Given the description of an element on the screen output the (x, y) to click on. 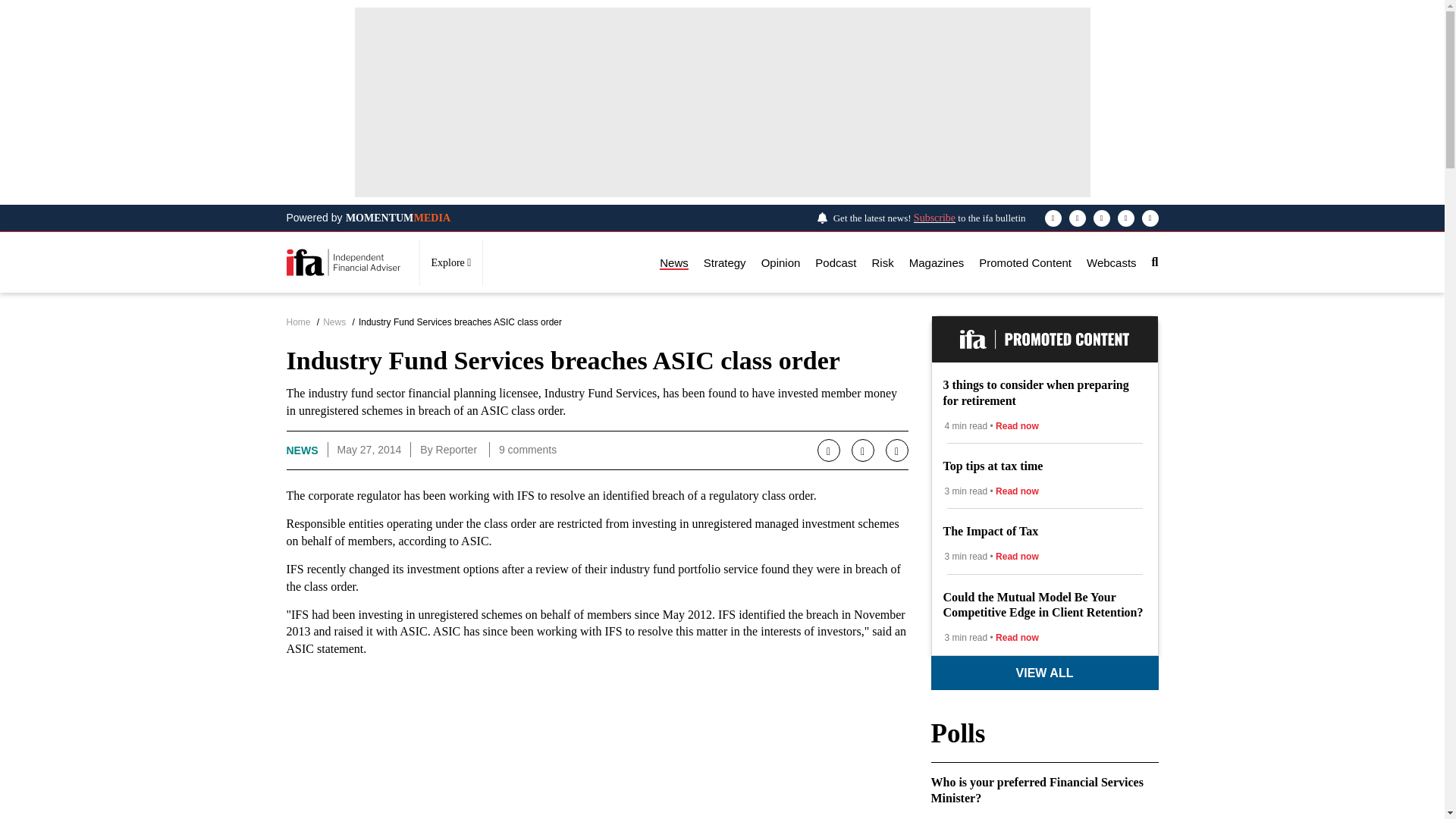
Strategy (724, 261)
Webcasts (1111, 261)
Opinion (780, 261)
News (673, 262)
Podcast (835, 261)
Powered by MOMENTUM MEDIA (368, 217)
Risk (882, 261)
Promoted Content (1024, 261)
Subscribe (934, 217)
Magazines (935, 261)
